Given the description of an element on the screen output the (x, y) to click on. 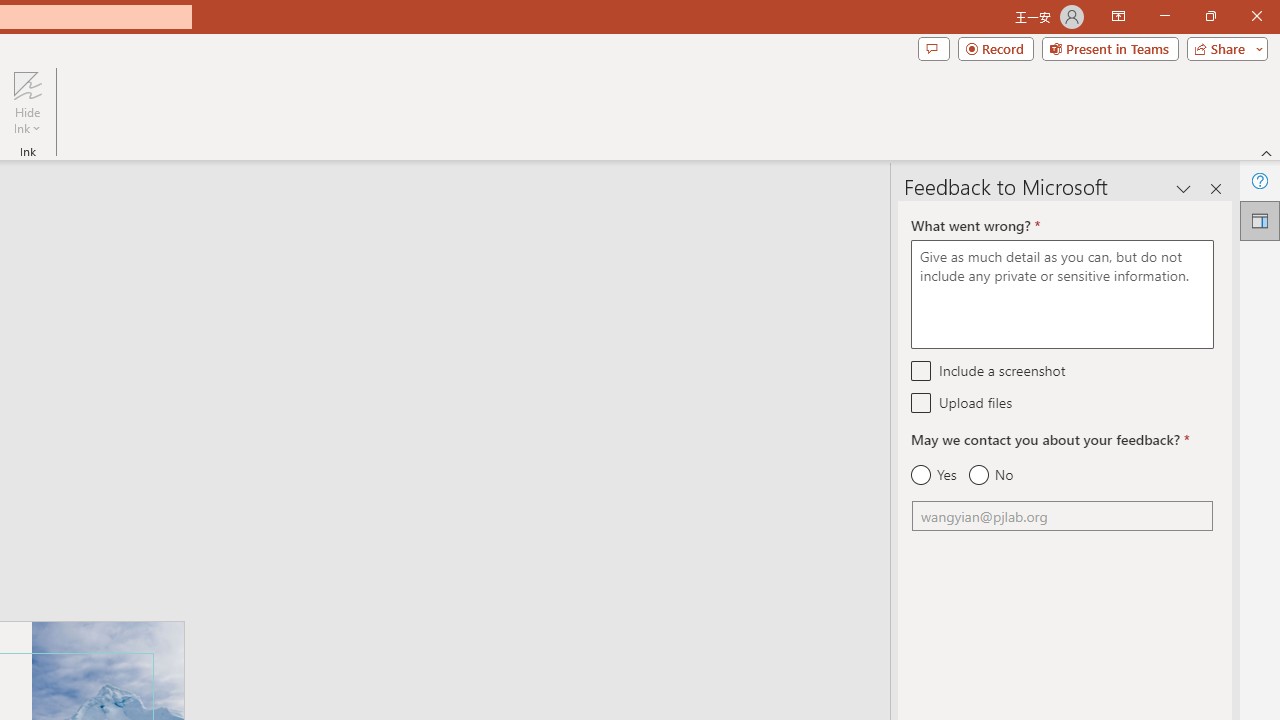
No (990, 475)
Hide Ink (27, 84)
Upload files (921, 402)
Hide Ink (27, 102)
What went wrong? * (1062, 294)
Email (1062, 516)
Yes (934, 475)
